Given the description of an element on the screen output the (x, y) to click on. 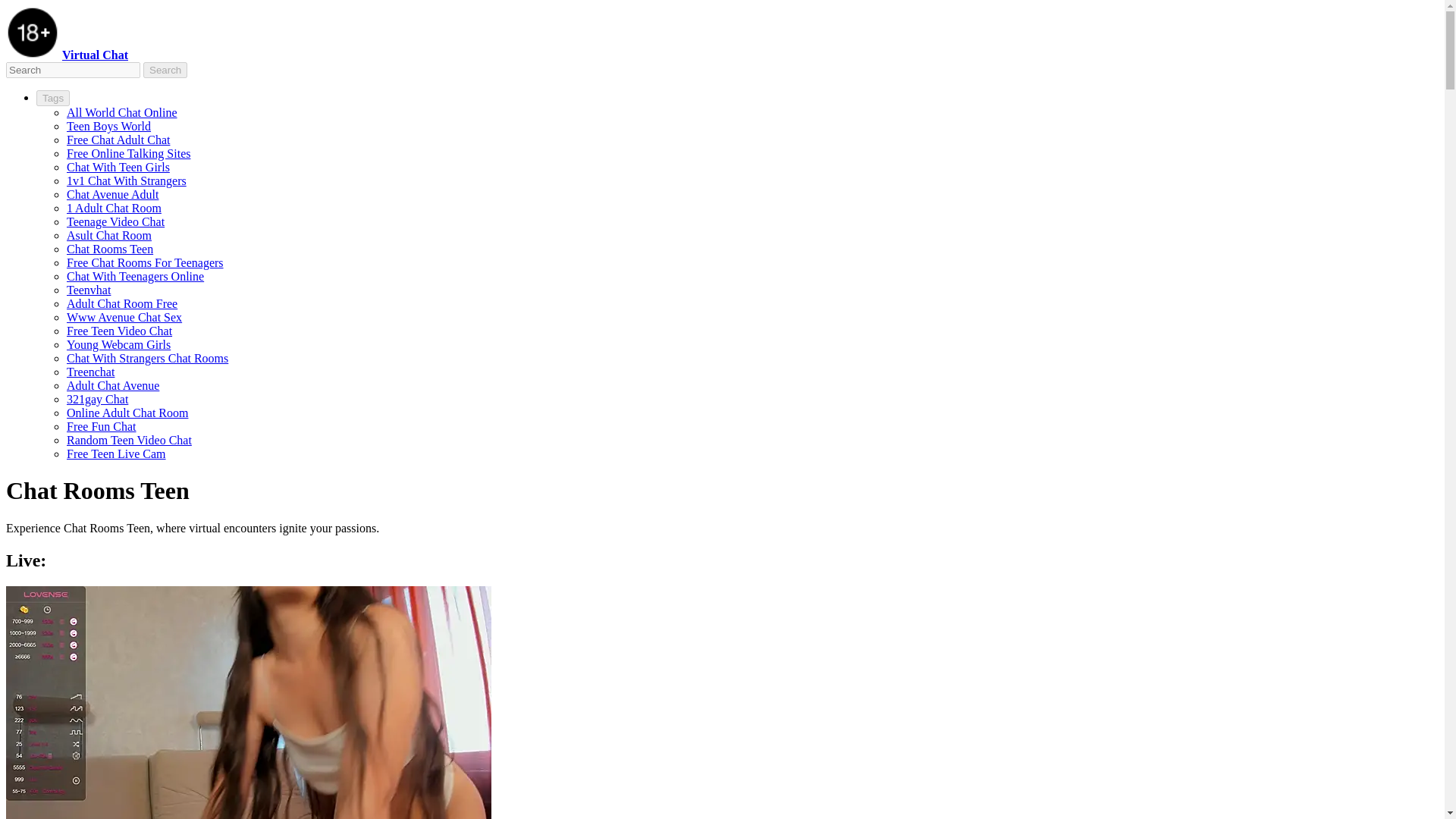
Chat Avenue Adult (112, 194)
1v1 Chat With Strangers (126, 180)
Free Chat Rooms For Teenagers (145, 262)
Free Teen Live Cam (115, 453)
Adult Chat Avenue (112, 385)
Chat With Strangers Chat Rooms (147, 358)
Virtual Chat (95, 54)
Free Chat Adult Chat (118, 139)
Free Fun Chat (101, 426)
Teenvhat (88, 289)
Chat With Teenagers Online (134, 276)
Teen Boys World (108, 125)
Young Webcam Girls (118, 344)
Asult Chat Room (108, 235)
Free Teen Video Chat (118, 330)
